Given the description of an element on the screen output the (x, y) to click on. 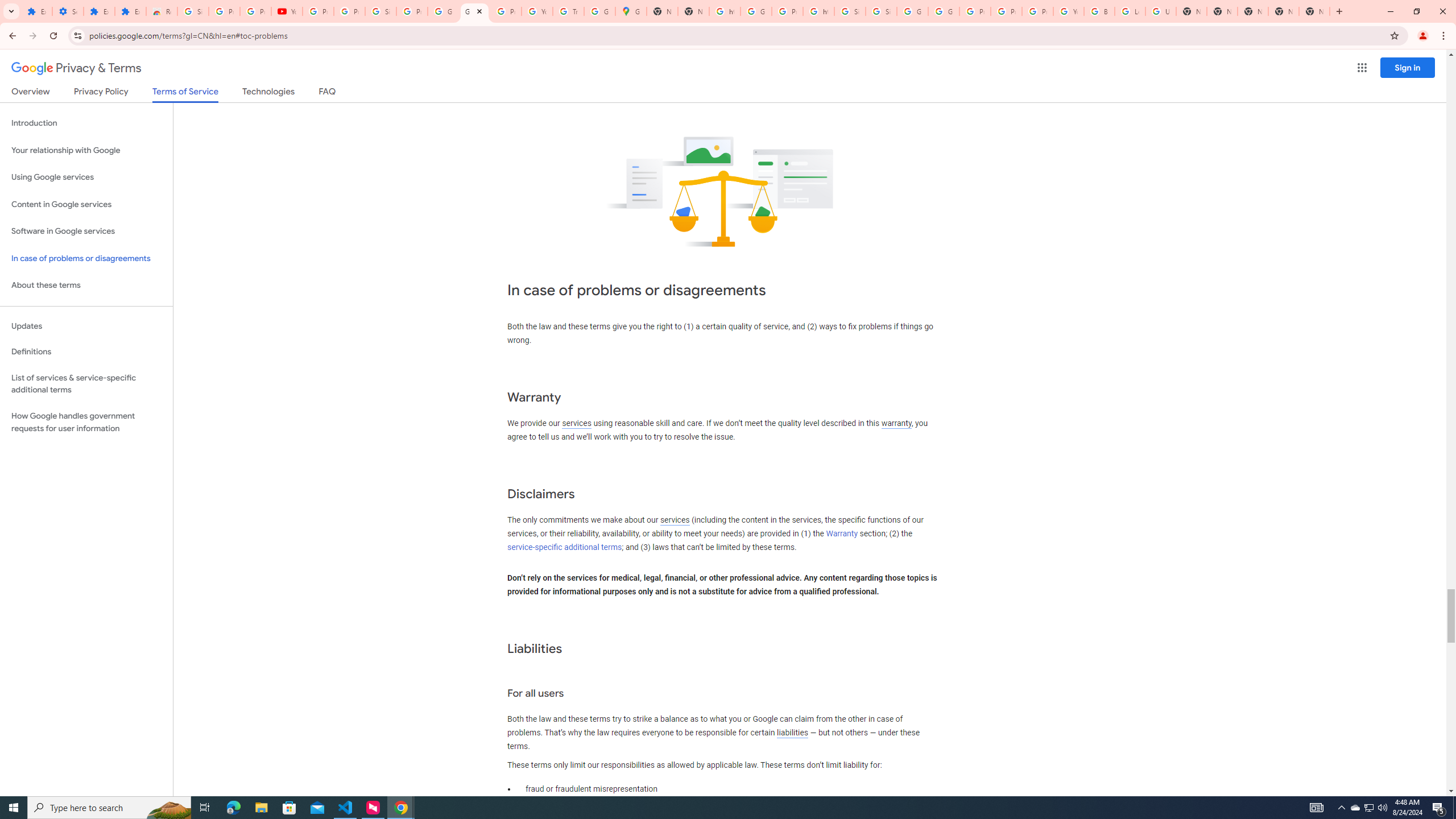
Reviews: Helix Fruit Jump Arcade Game (161, 11)
https://scholar.google.com/ (724, 11)
